Given the description of an element on the screen output the (x, y) to click on. 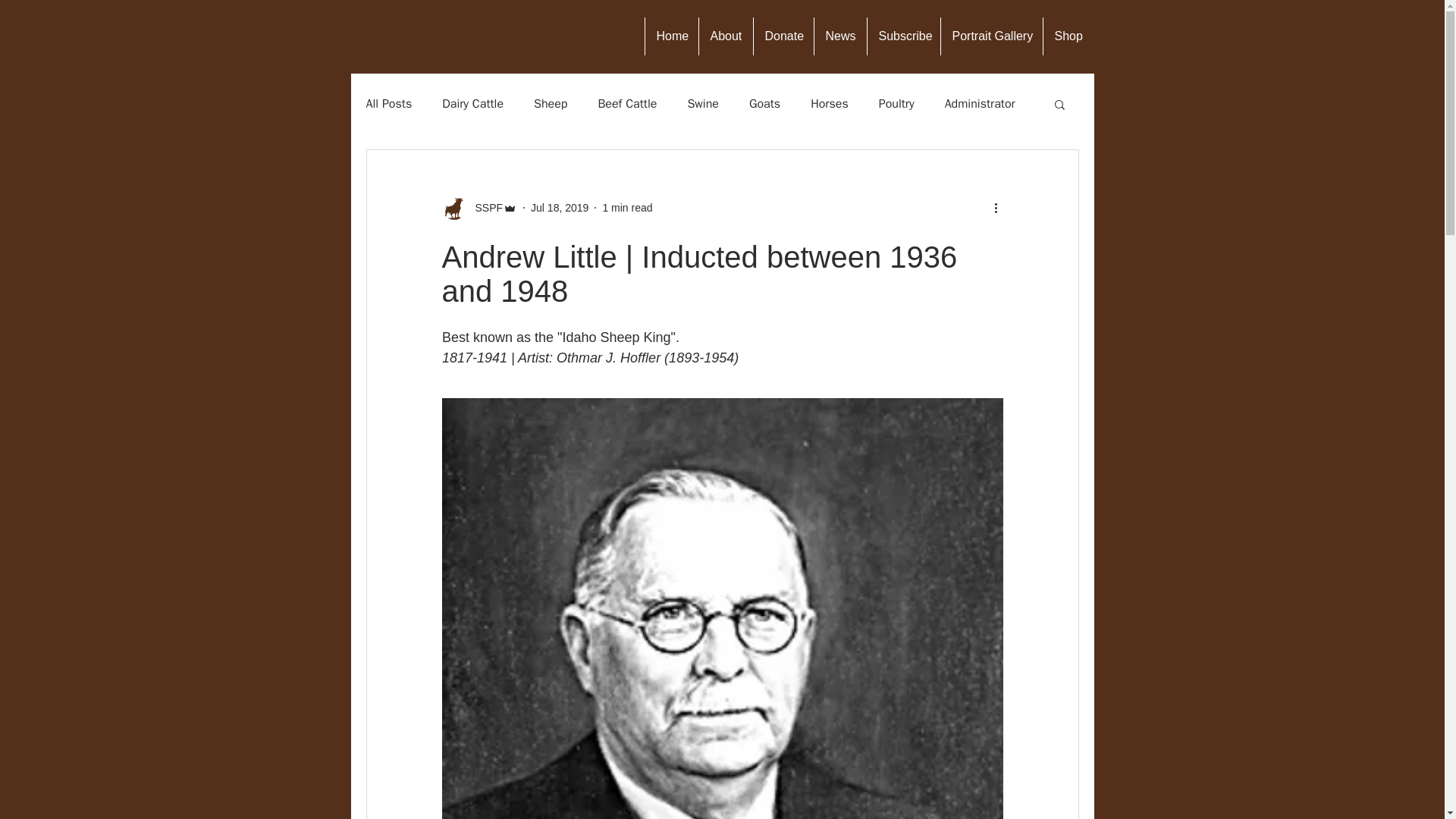
SSPF (478, 207)
Swine (703, 103)
Sheep (550, 103)
1 min read (627, 207)
Horses (829, 103)
Poultry (896, 103)
All Posts (388, 103)
Donate (782, 36)
Portrait Gallery (991, 36)
Shop (1067, 36)
News (839, 36)
Administrator (979, 103)
Home (671, 36)
Dairy Cattle (472, 103)
About (724, 36)
